Given the description of an element on the screen output the (x, y) to click on. 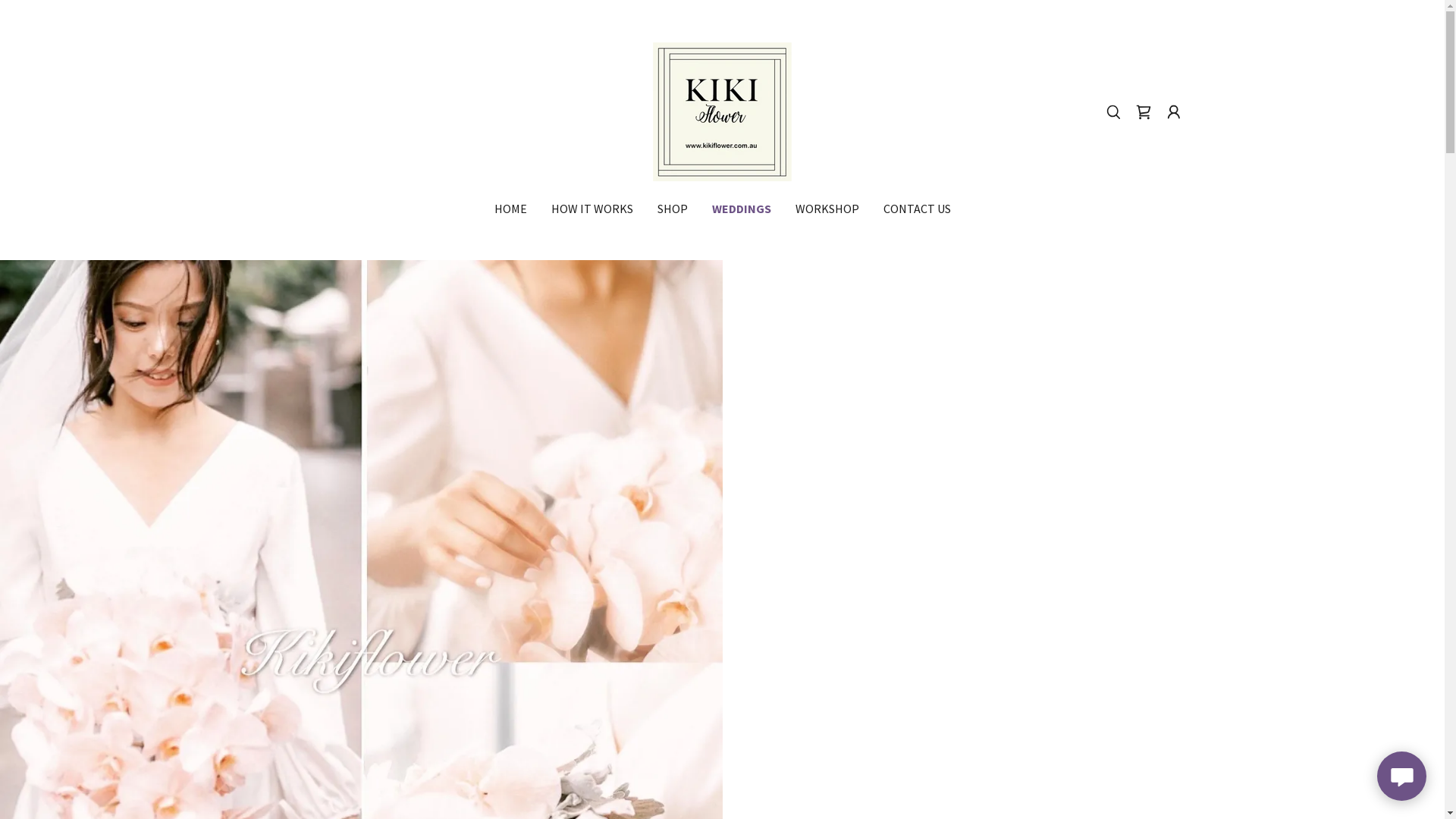
WEDDINGS Element type: text (740, 208)
HOME Element type: text (510, 208)
CONTACT US Element type: text (916, 208)
HOW IT WORKS Element type: text (591, 208)
kikiflower Element type: hover (721, 110)
SHOP Element type: text (671, 208)
WORKSHOP Element type: text (826, 208)
